Given the description of an element on the screen output the (x, y) to click on. 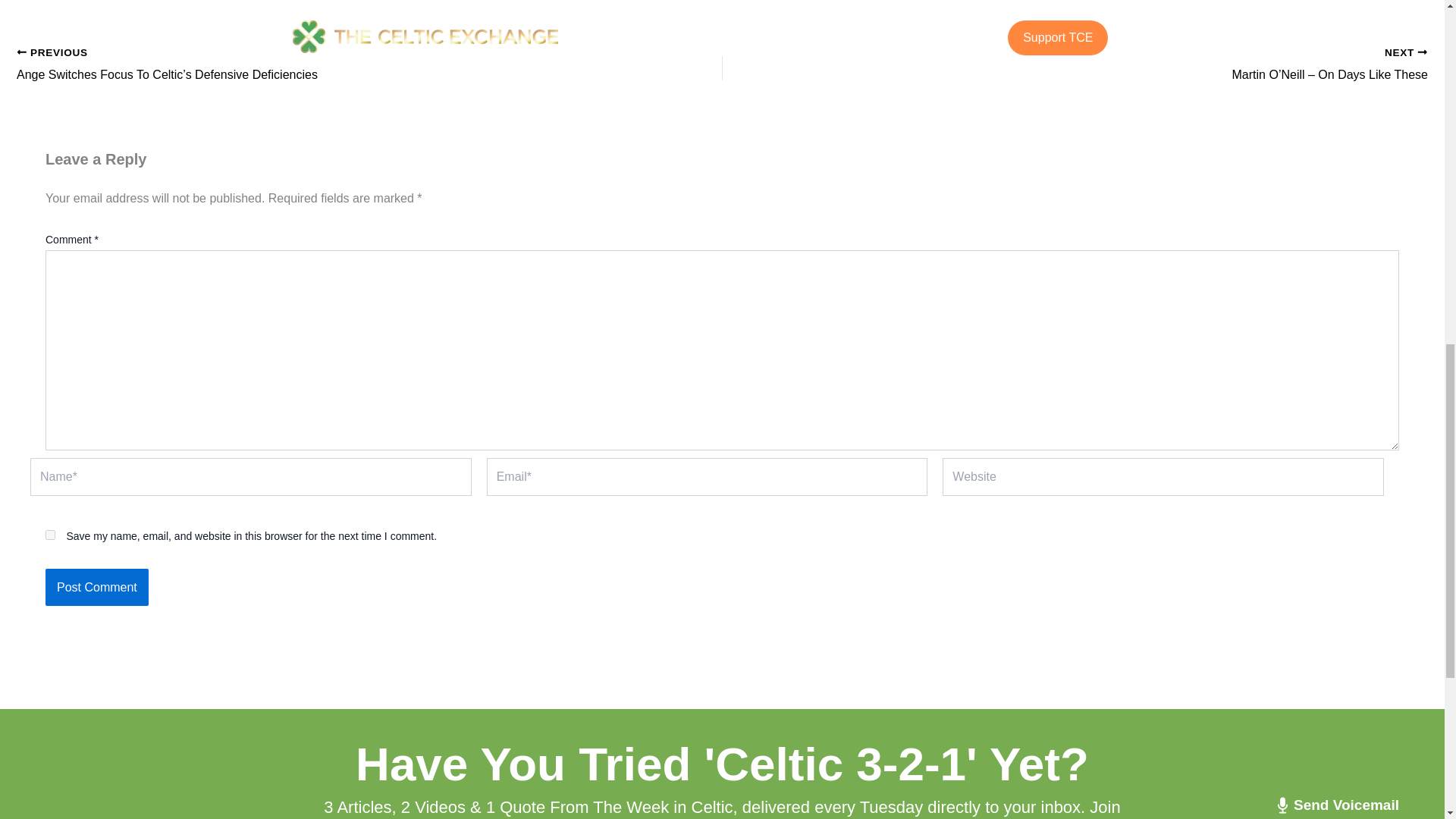
Post Comment (96, 587)
Martin O'Neill - On Days Like These (1144, 65)
yes (50, 534)
Post Comment (96, 587)
Ange Switches Focus To Celtic's Defensive Deficiencies (299, 65)
